Given the description of an element on the screen output the (x, y) to click on. 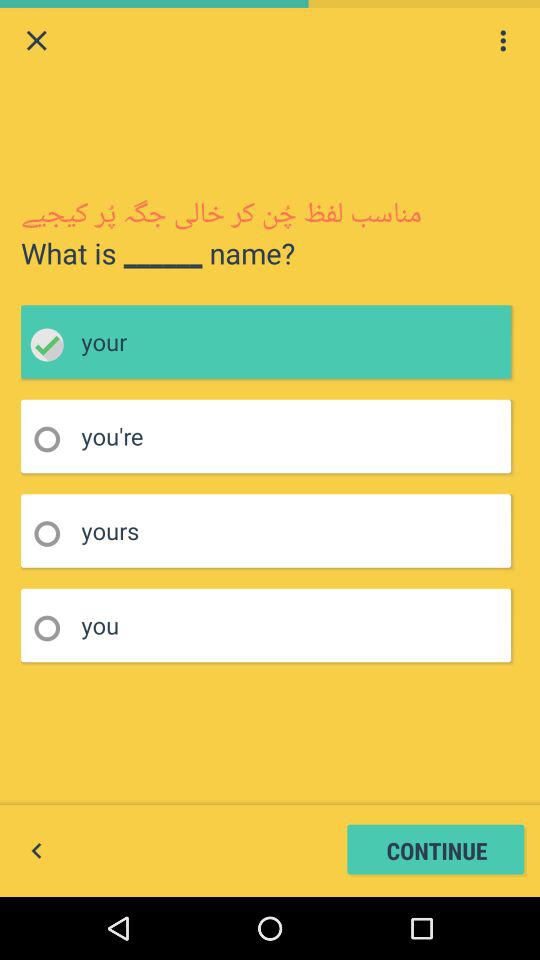
select the option (53, 628)
